Given the description of an element on the screen output the (x, y) to click on. 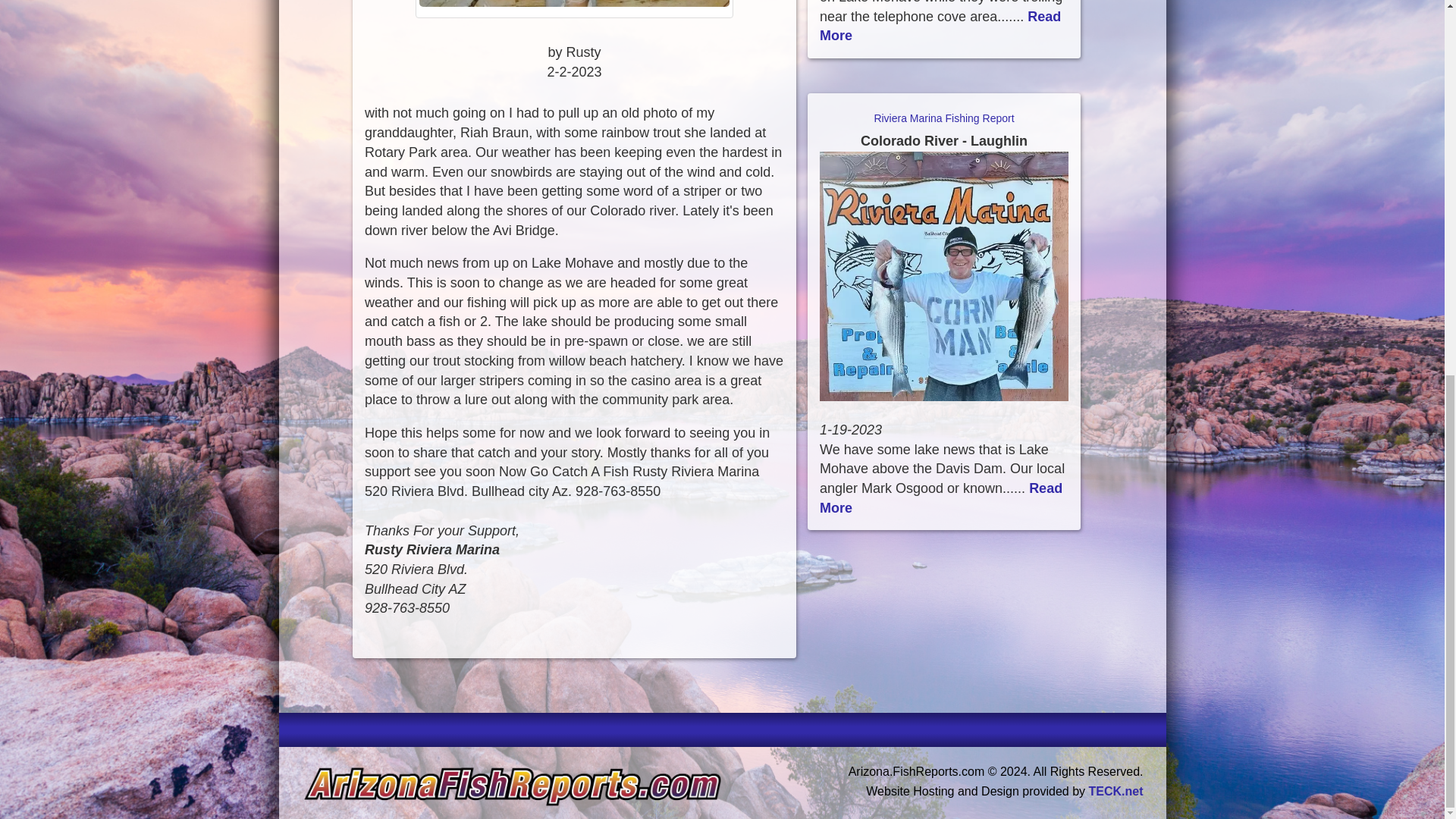
Riviera Marina Fishing Report (943, 130)
TECK.net (1115, 790)
Read More (940, 26)
Read More (940, 497)
